Given the description of an element on the screen output the (x, y) to click on. 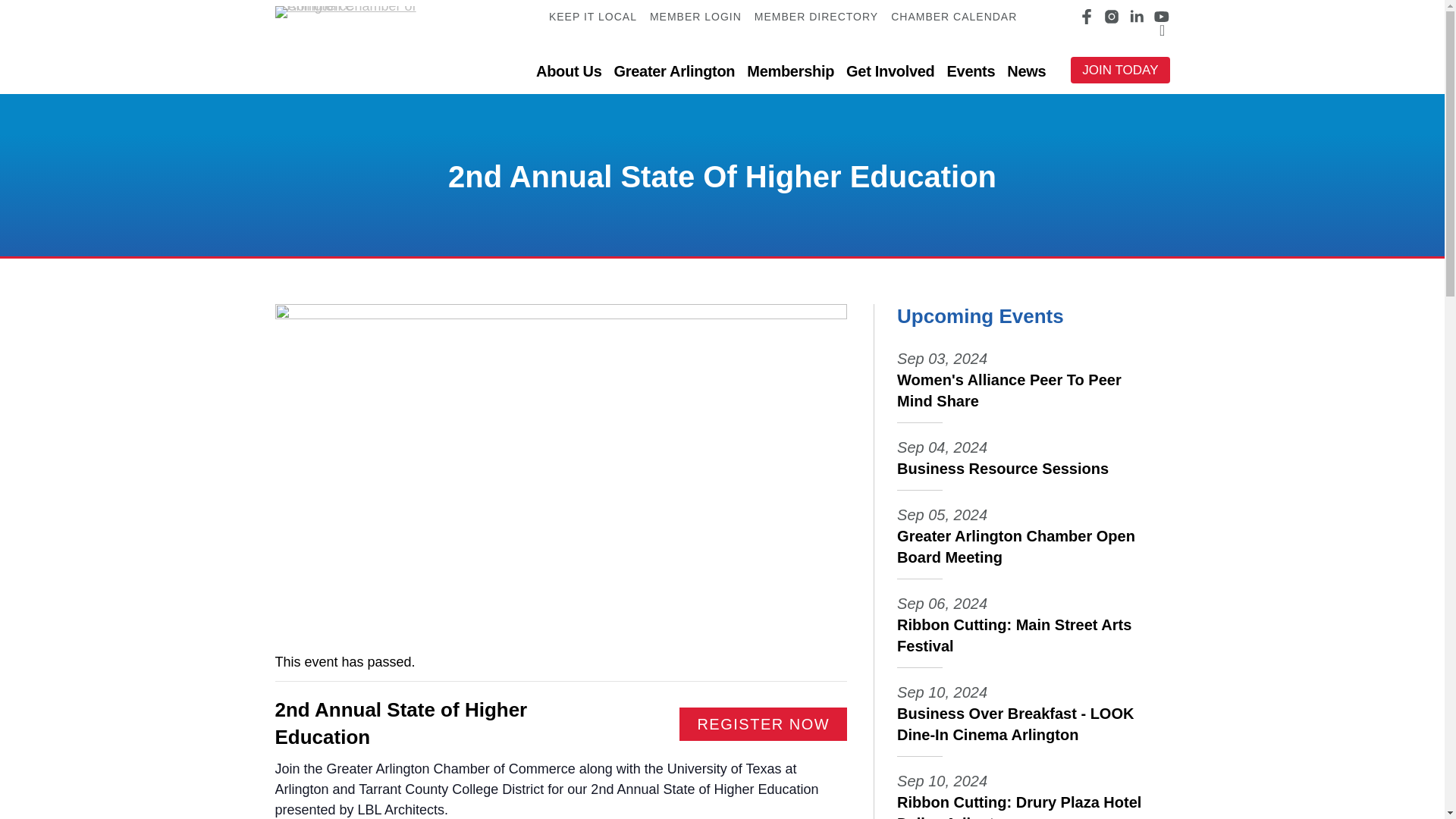
MEMBER LOGIN (695, 16)
Membership (790, 71)
Greater Arlington (674, 71)
CHAMBER CALENDAR (953, 16)
KEEP IT LOCAL (592, 16)
Arlington Chamber of Commerce (359, 11)
About Us (568, 71)
MEMBER DIRECTORY (815, 16)
